Given the description of an element on the screen output the (x, y) to click on. 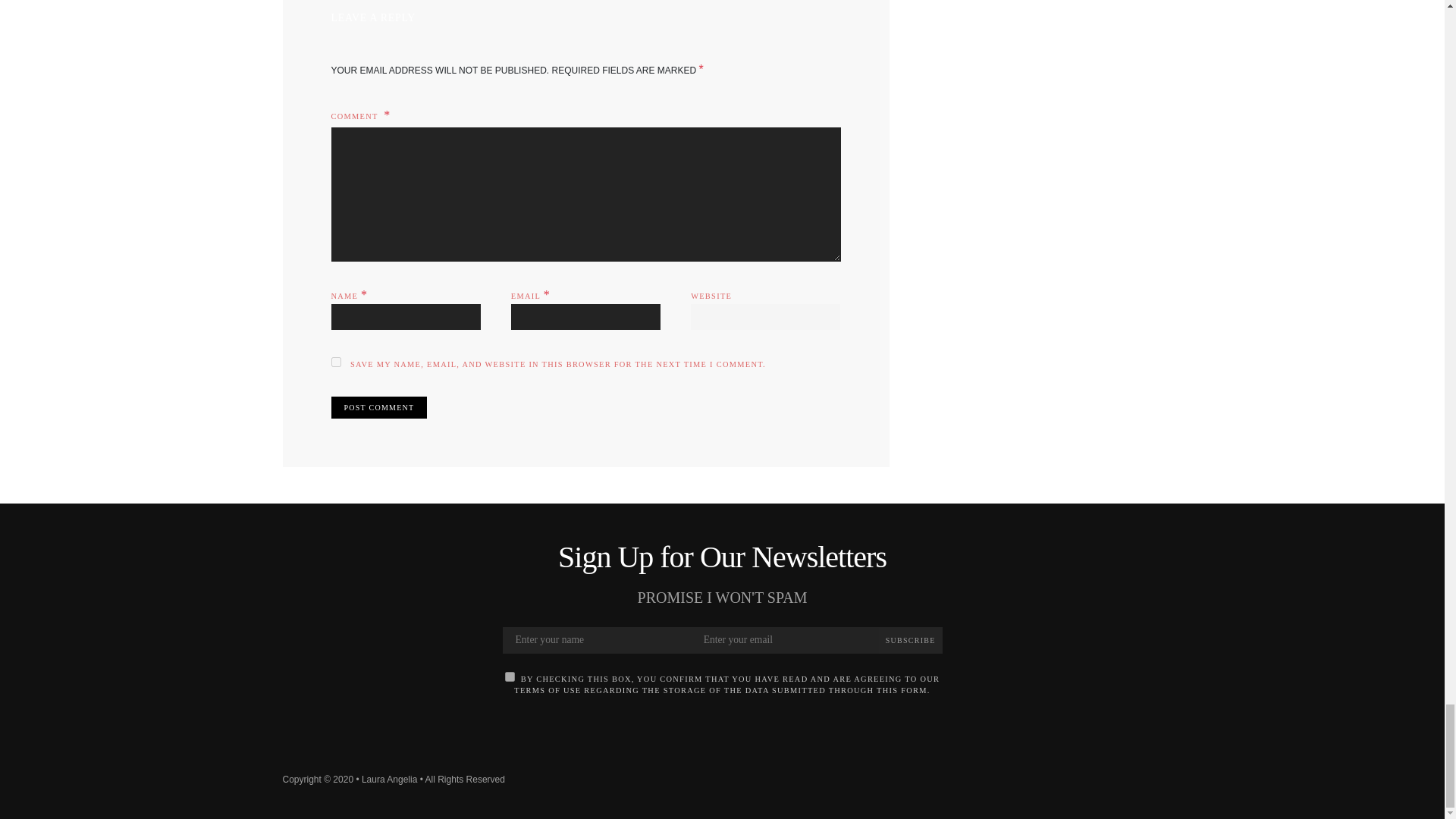
on (510, 676)
yes (335, 361)
Post Comment (378, 407)
